Given the description of an element on the screen output the (x, y) to click on. 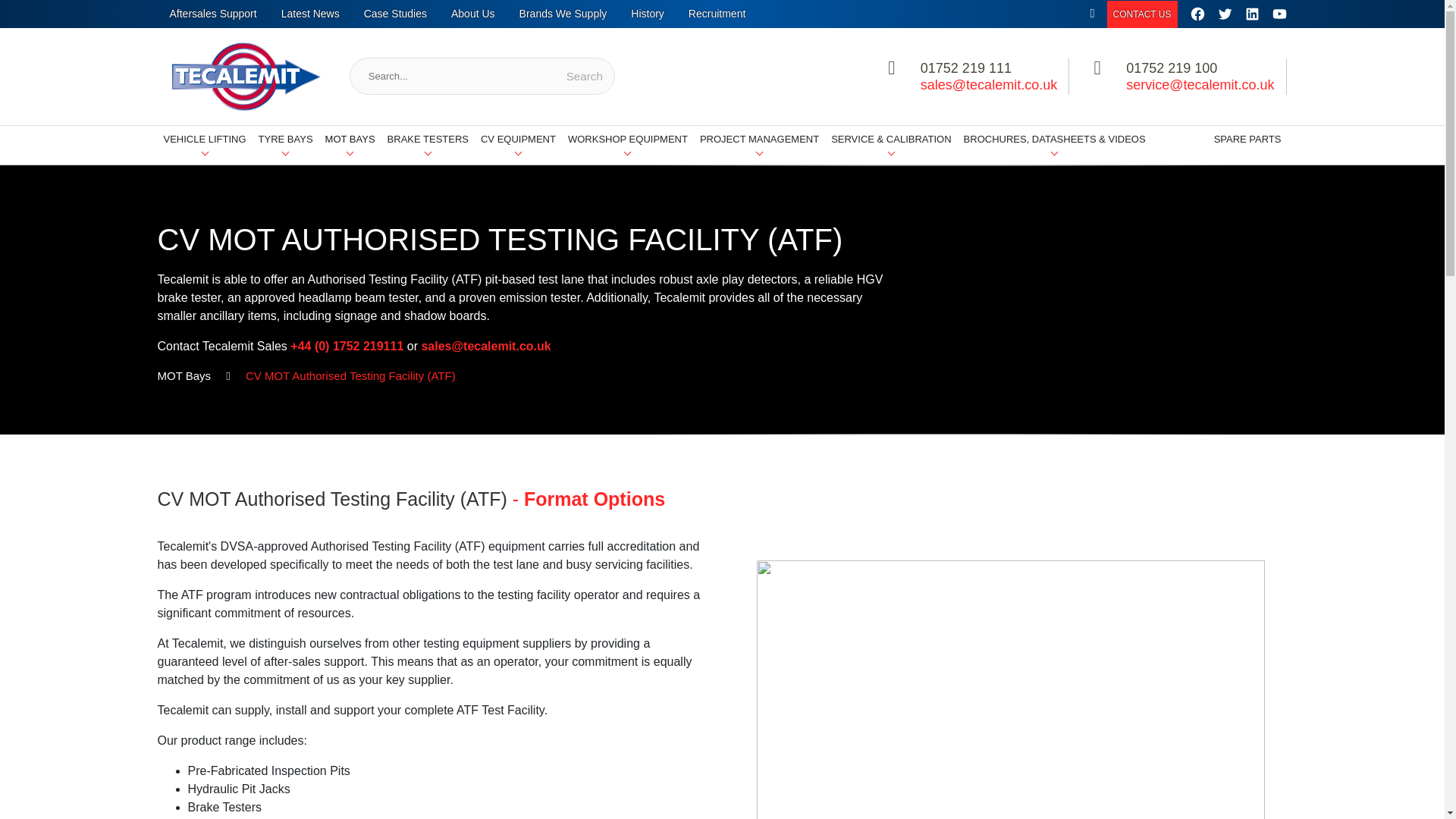
Vehicle Lifting (204, 145)
History (647, 13)
CONTACT US (1141, 13)
About Us (472, 13)
Search (584, 76)
Home (1091, 13)
History (647, 13)
Brands We Supply (563, 13)
Facebook (1197, 13)
VEHICLE LIFTING (204, 145)
